Given the description of an element on the screen output the (x, y) to click on. 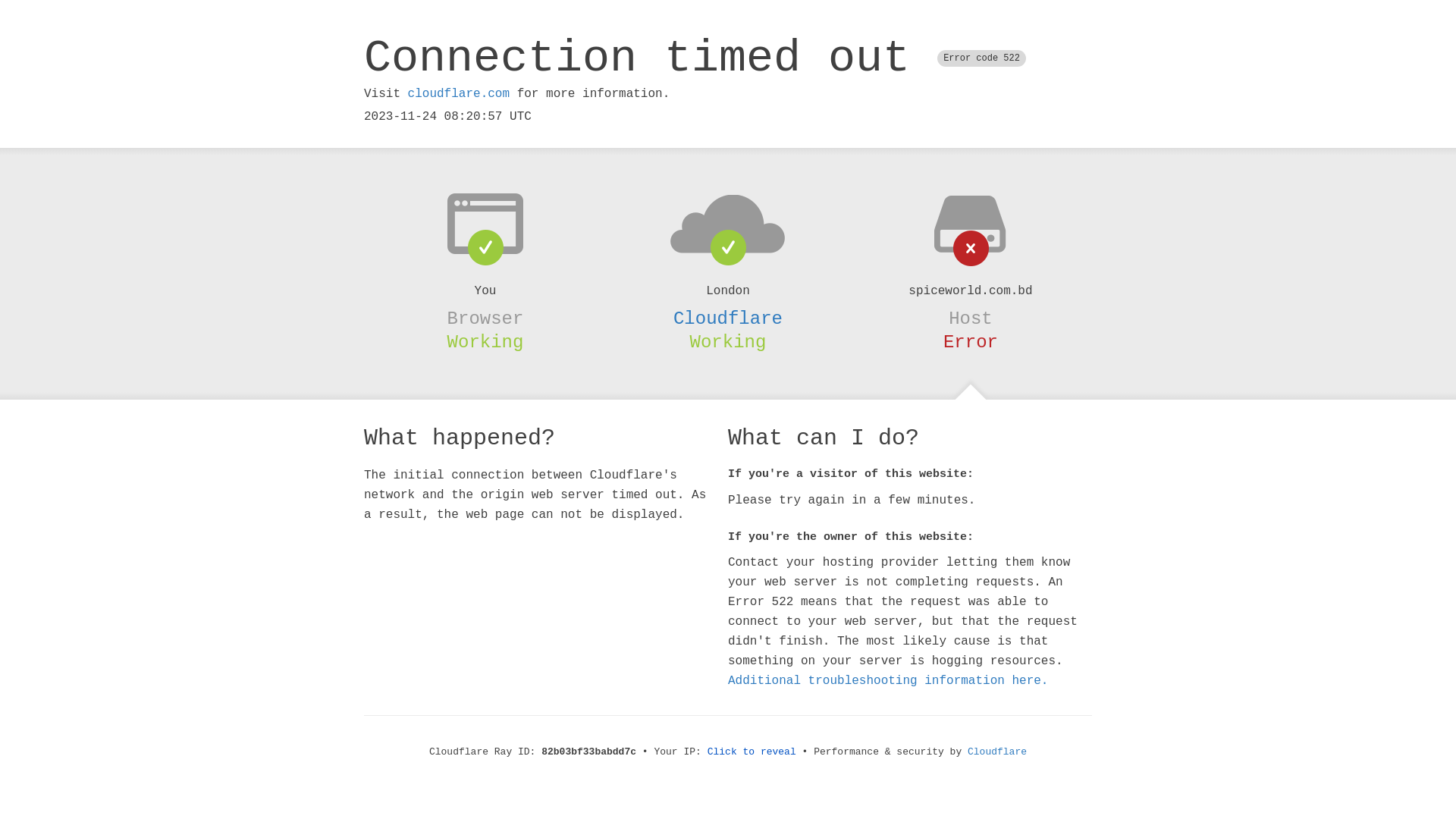
cloudflare.com Element type: text (458, 93)
Additional troubleshooting information here. Element type: text (888, 680)
Cloudflare Element type: text (996, 751)
Cloudflare Element type: text (727, 318)
Click to reveal Element type: text (751, 751)
